Given the description of an element on the screen output the (x, y) to click on. 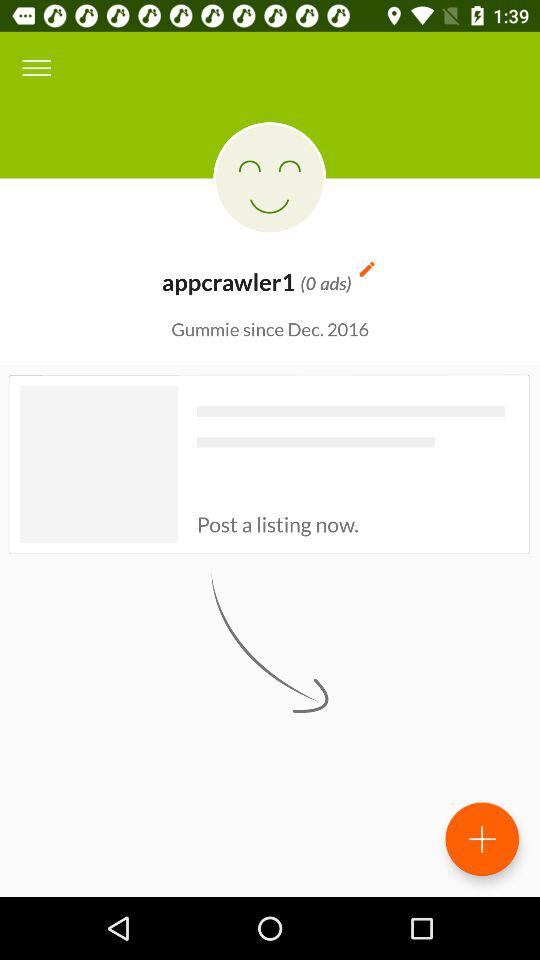
turn on icon above the gummie since dec (366, 268)
